Given the description of an element on the screen output the (x, y) to click on. 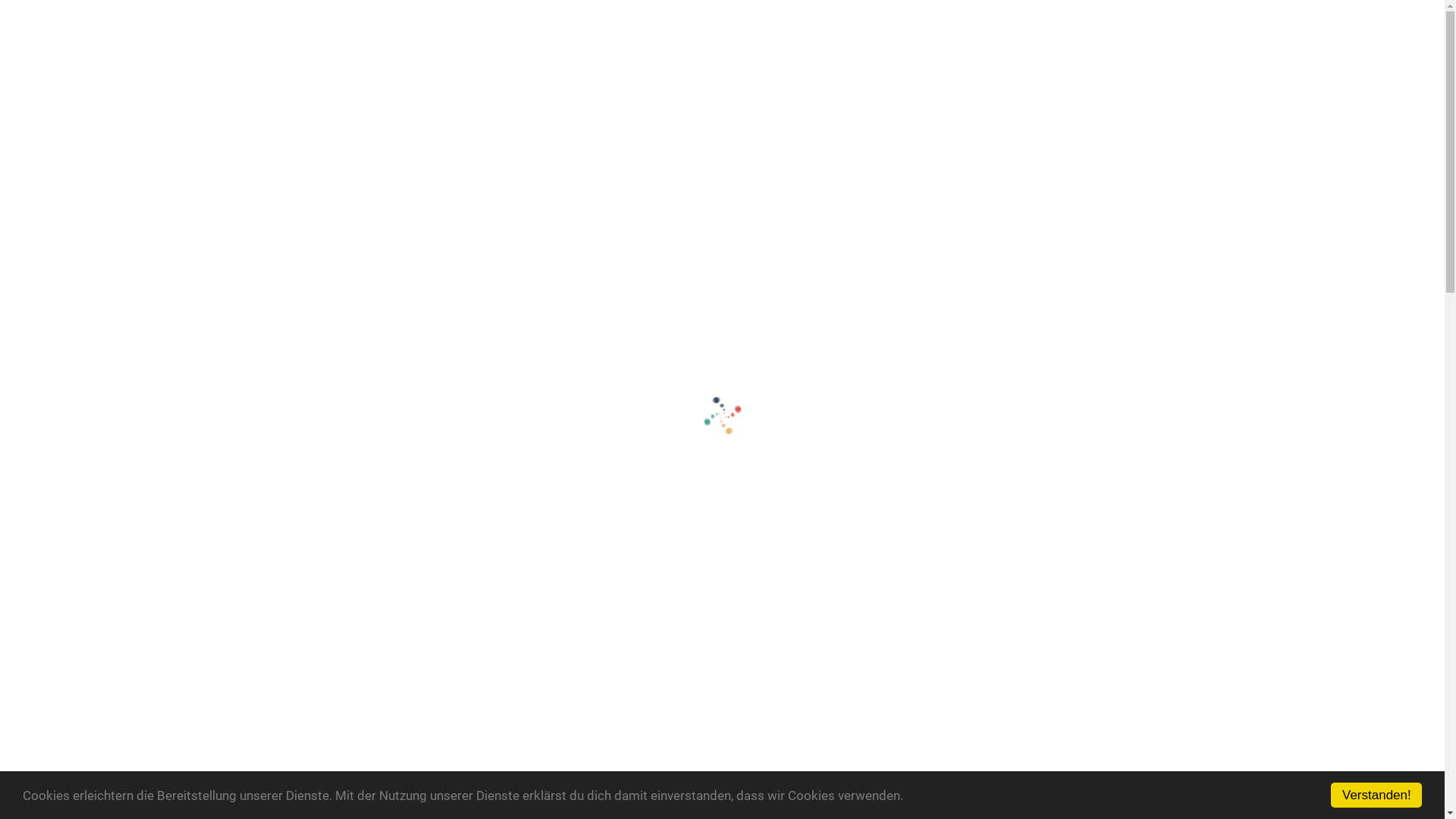
Verstanden! Element type: text (1375, 794)
helmuthlogo.png Element type: hover (45, 26)
helmuth.kloeckl(at)kloeckl.cc  Element type: text (120, 696)
